Given the description of an element on the screen output the (x, y) to click on. 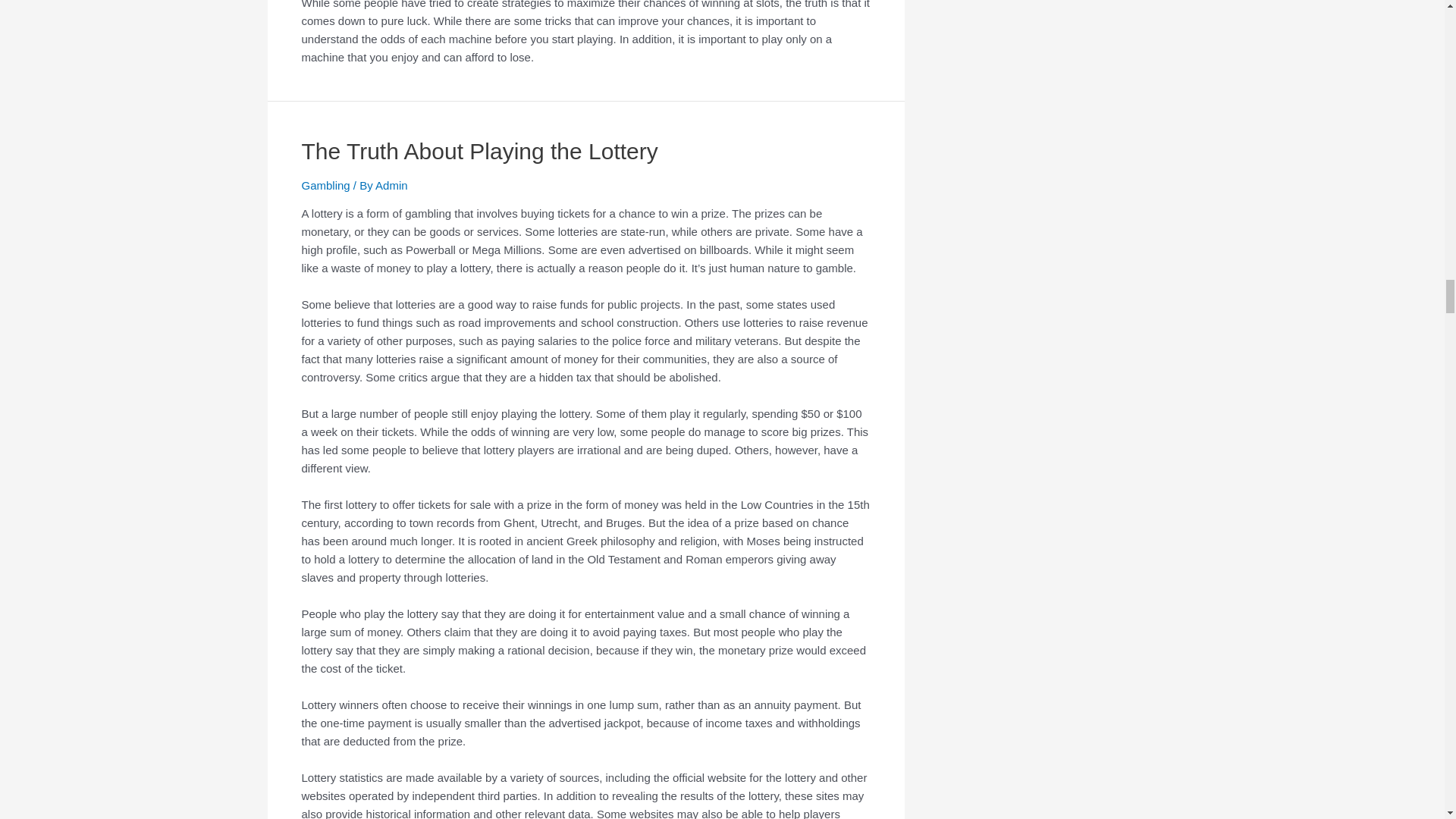
The Truth About Playing the Lottery (479, 150)
Gambling (325, 185)
Admin (391, 185)
View all posts by Admin (391, 185)
